Given the description of an element on the screen output the (x, y) to click on. 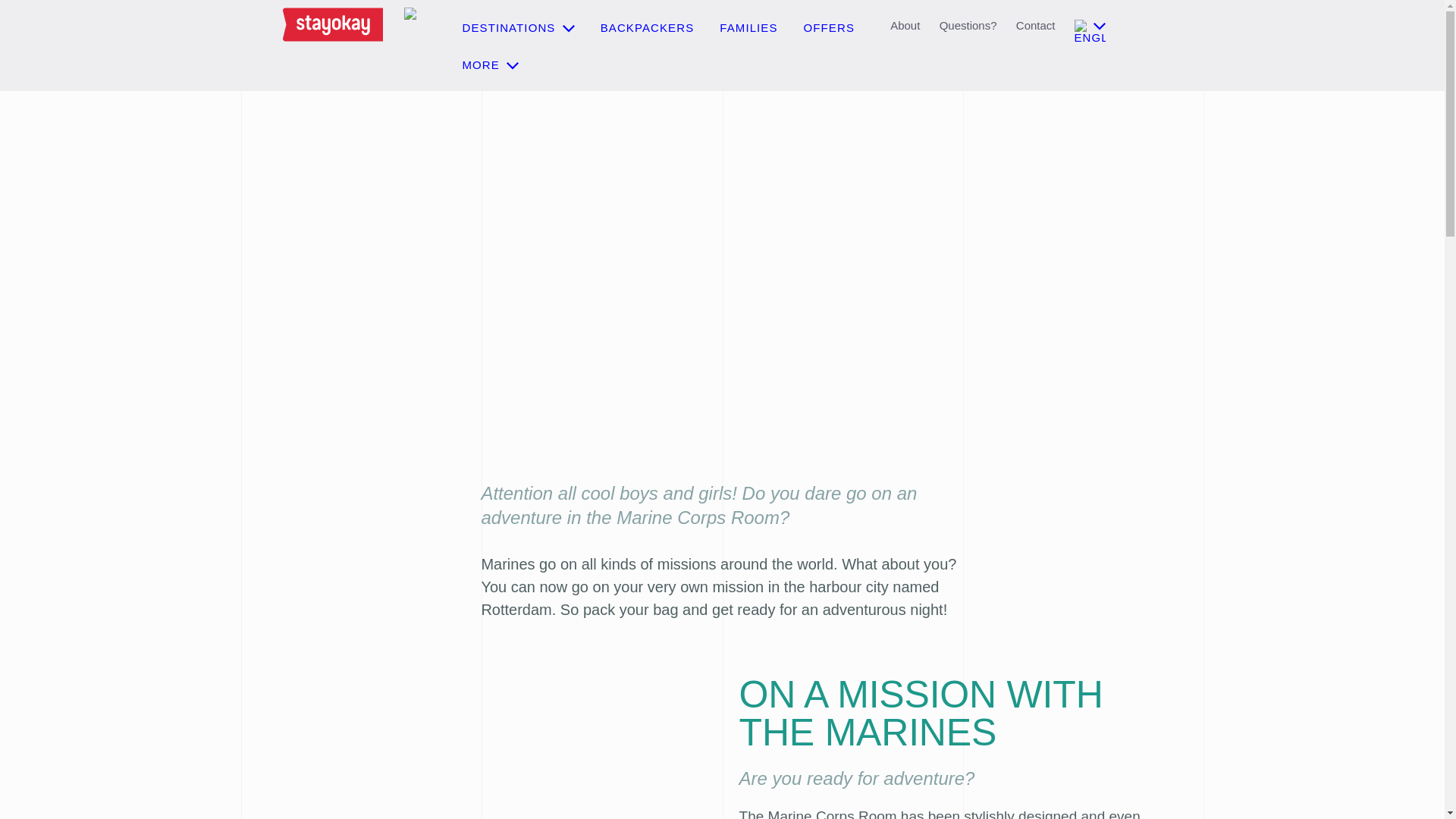
MORE (491, 64)
DESTINATIONS (519, 27)
FAMILIES (748, 27)
BACKPACKERS (647, 27)
OFFERS (828, 27)
